Given the description of an element on the screen output the (x, y) to click on. 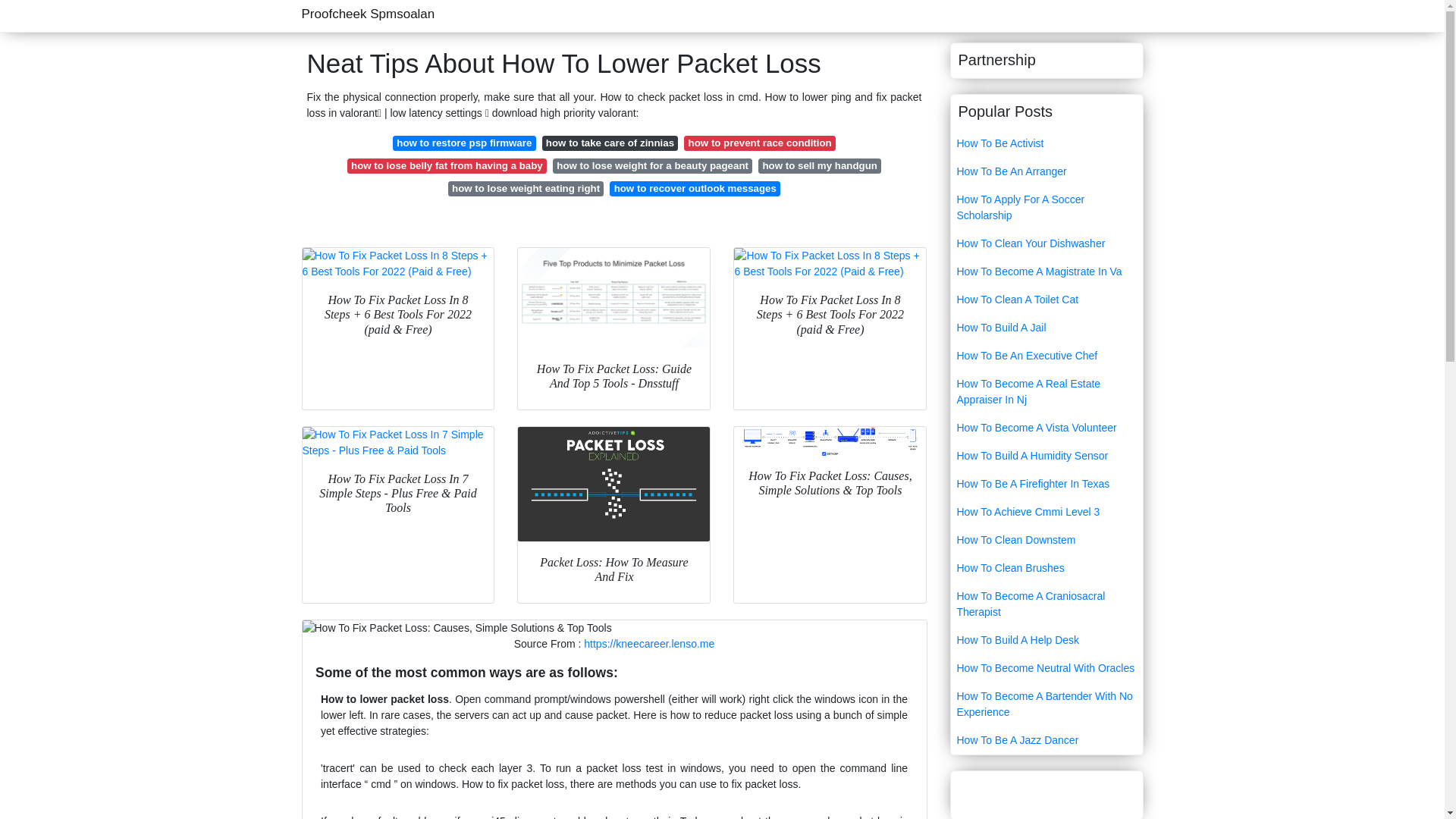
Kneecareer (648, 644)
How To Clean A Toilet Cat (1046, 299)
Packet Loss: How To Measure And Fix  (614, 484)
How To Be Activist (1046, 143)
how to lose belly fat from having a baby (447, 165)
How To Be An Arranger (1046, 171)
how to restore psp firmware (464, 142)
how to sell my handgun (819, 165)
How To Apply For A Soccer Scholarship (1046, 207)
How To Become A Magistrate In Va (1046, 271)
how to prevent race condition (759, 142)
How To Build A Jail (1046, 327)
How To Become A Vista Volunteer (1046, 428)
how to lose weight eating right (526, 188)
how to recover outlook messages (695, 188)
